Given the description of an element on the screen output the (x, y) to click on. 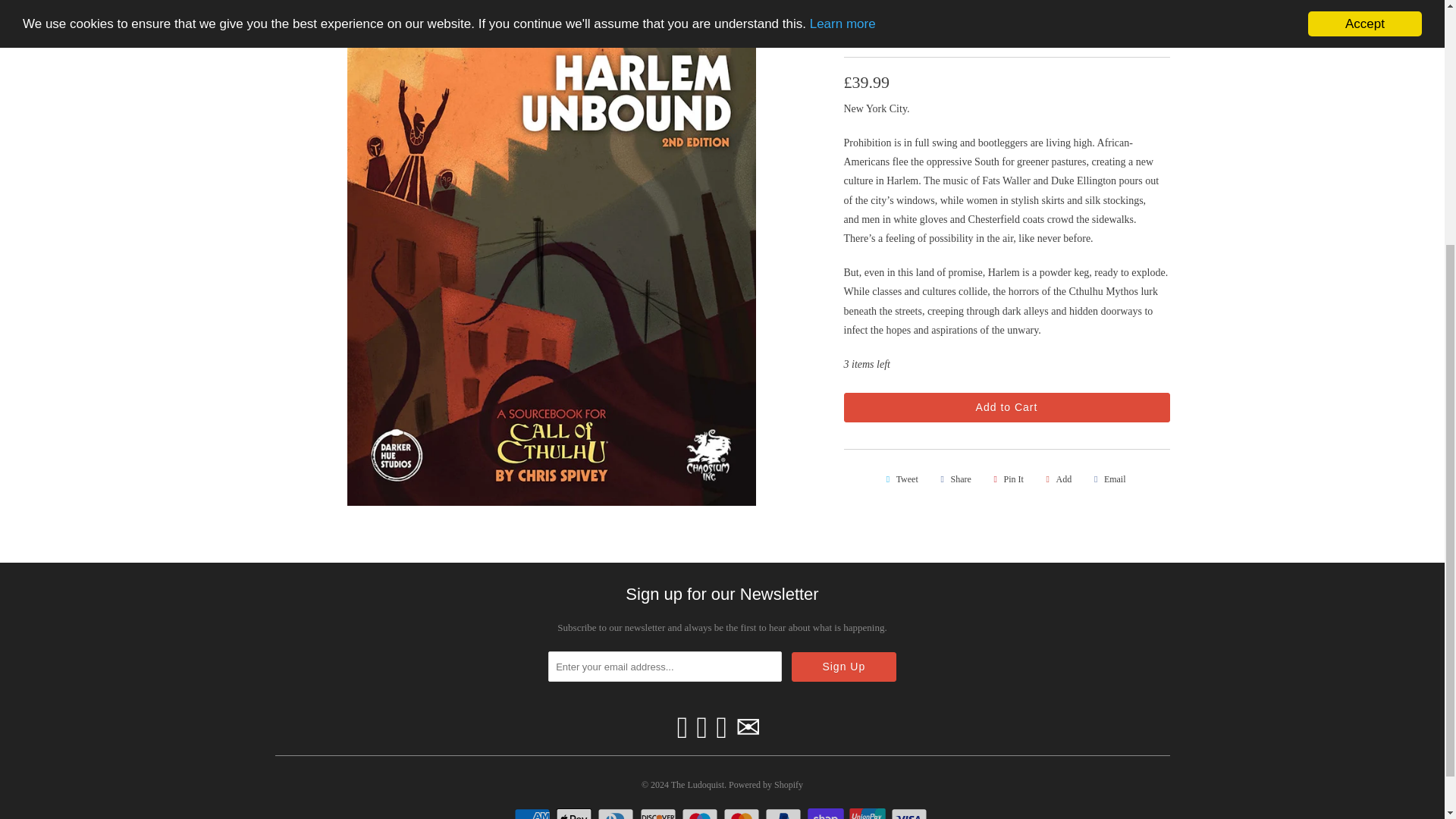
Share this on Pinterest (1005, 478)
Share this on Facebook (953, 478)
Share this on Twitter (898, 478)
Sign Up (844, 666)
